Given the description of an element on the screen output the (x, y) to click on. 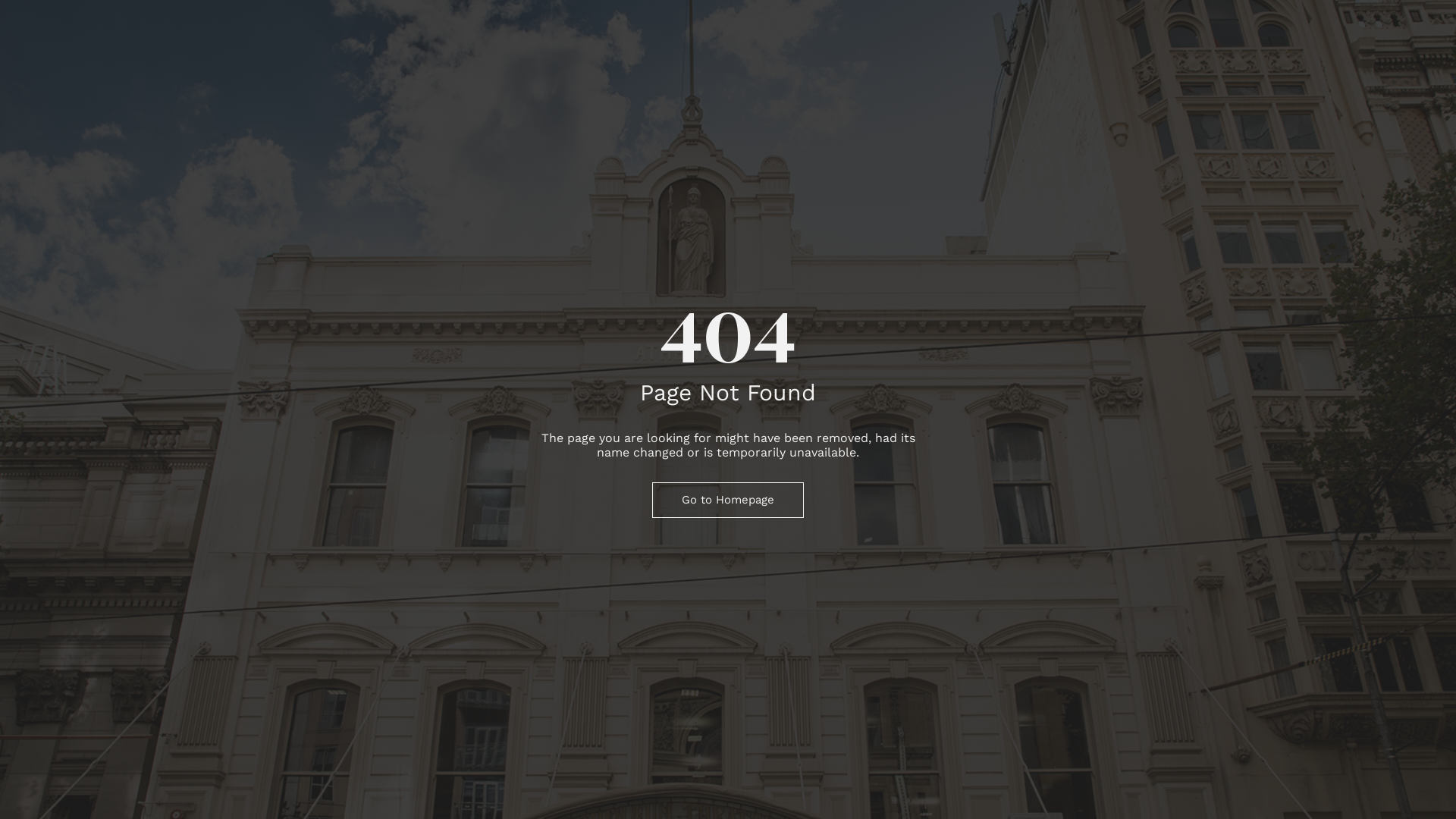
Go to Homepage Element type: text (727, 499)
